Given the description of an element on the screen output the (x, y) to click on. 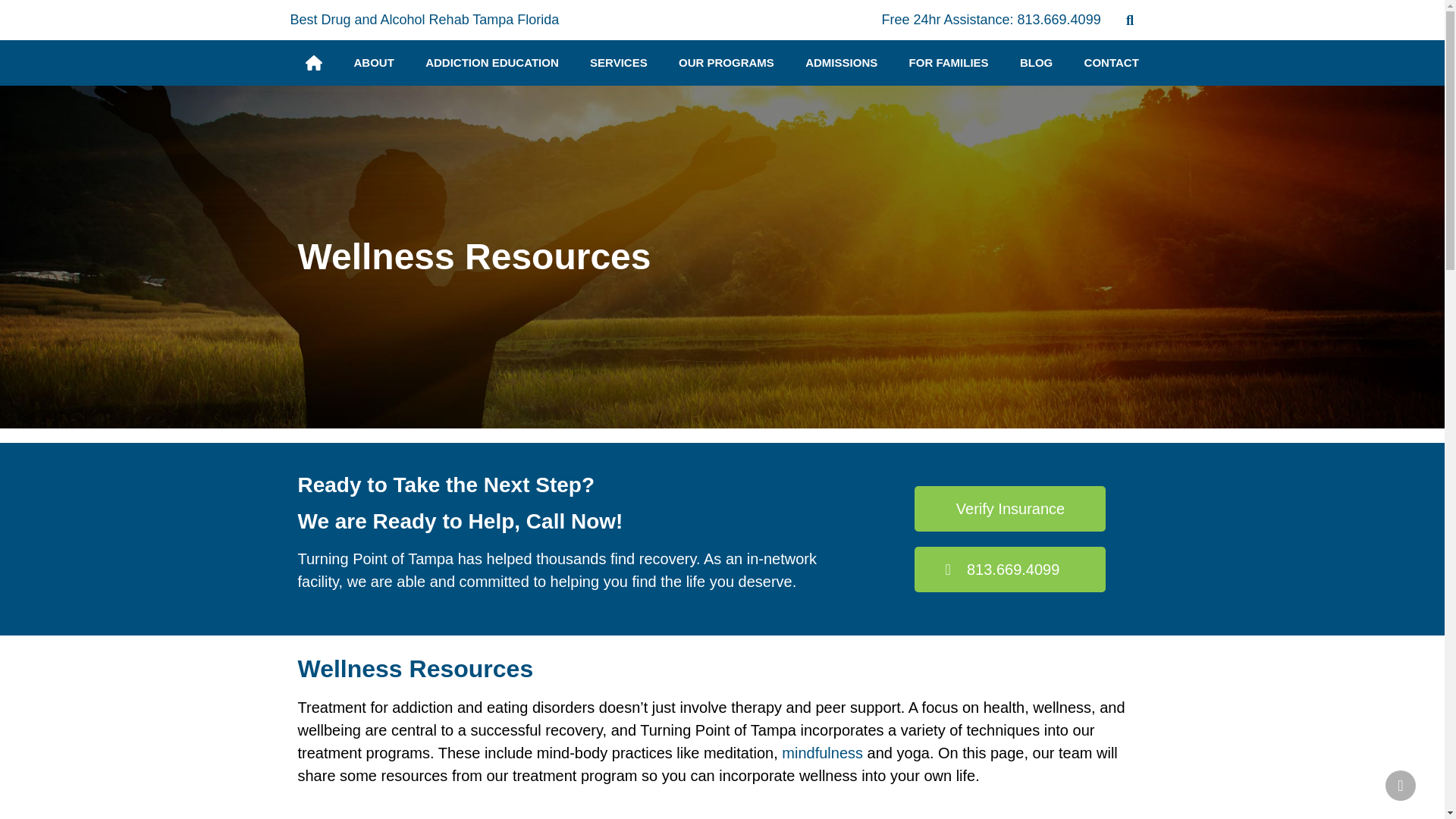
Best Drug and Alcohol Rehab Tampa Florida (424, 19)
ABOUT (373, 62)
SERVICES (617, 62)
813.669.4099 (1058, 19)
ADDICTION EDUCATION (492, 62)
OUR PROGRAMS (725, 62)
